Given the description of an element on the screen output the (x, y) to click on. 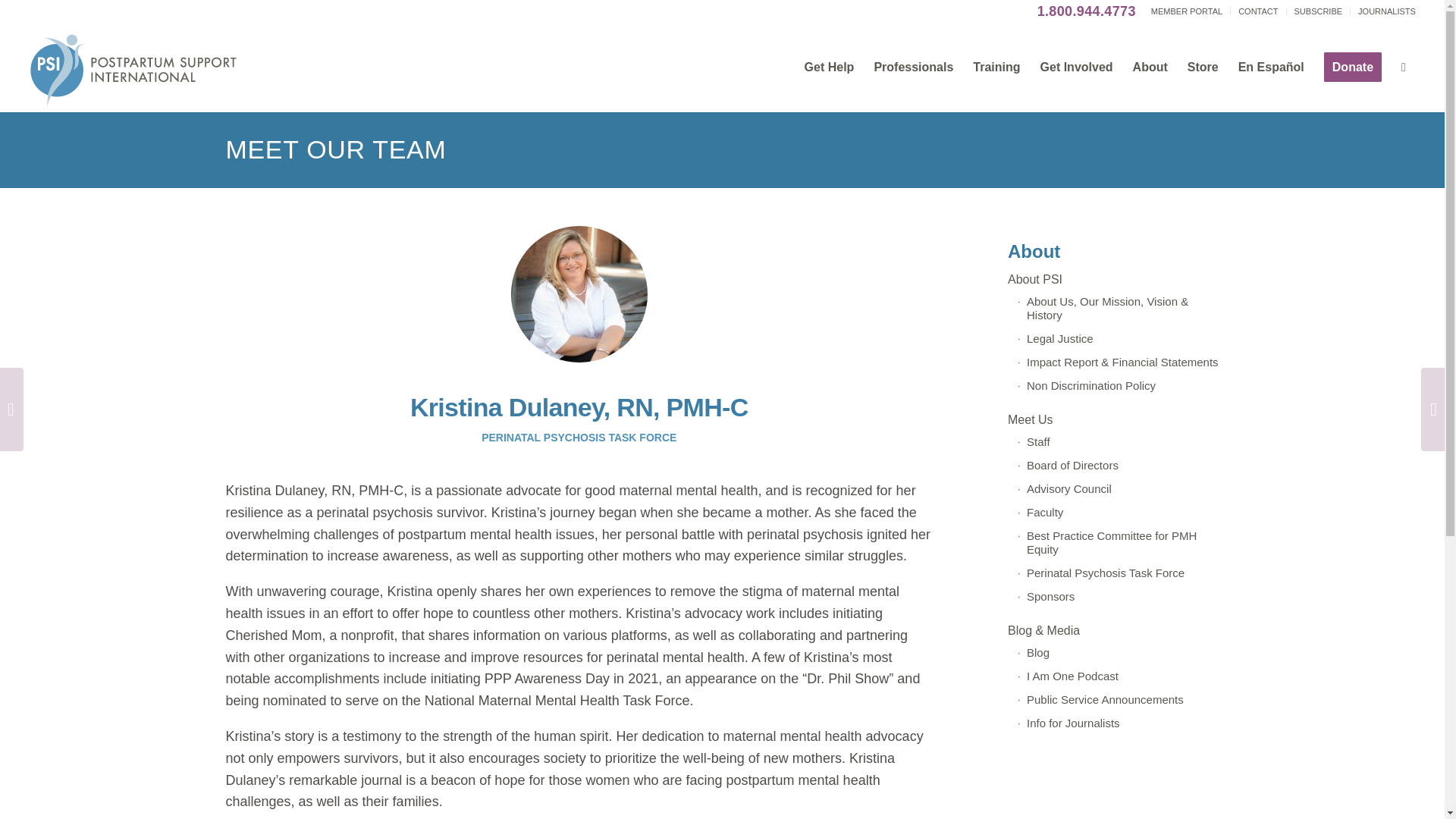
CONTACT (1258, 11)
SUBSCRIBE (1318, 11)
Get Involved (1076, 67)
MEMBER PORTAL (1187, 11)
Permanent Link: Meet Our Team (335, 149)
JOURNALISTS (1386, 11)
Professionals (912, 67)
